Given the description of an element on the screen output the (x, y) to click on. 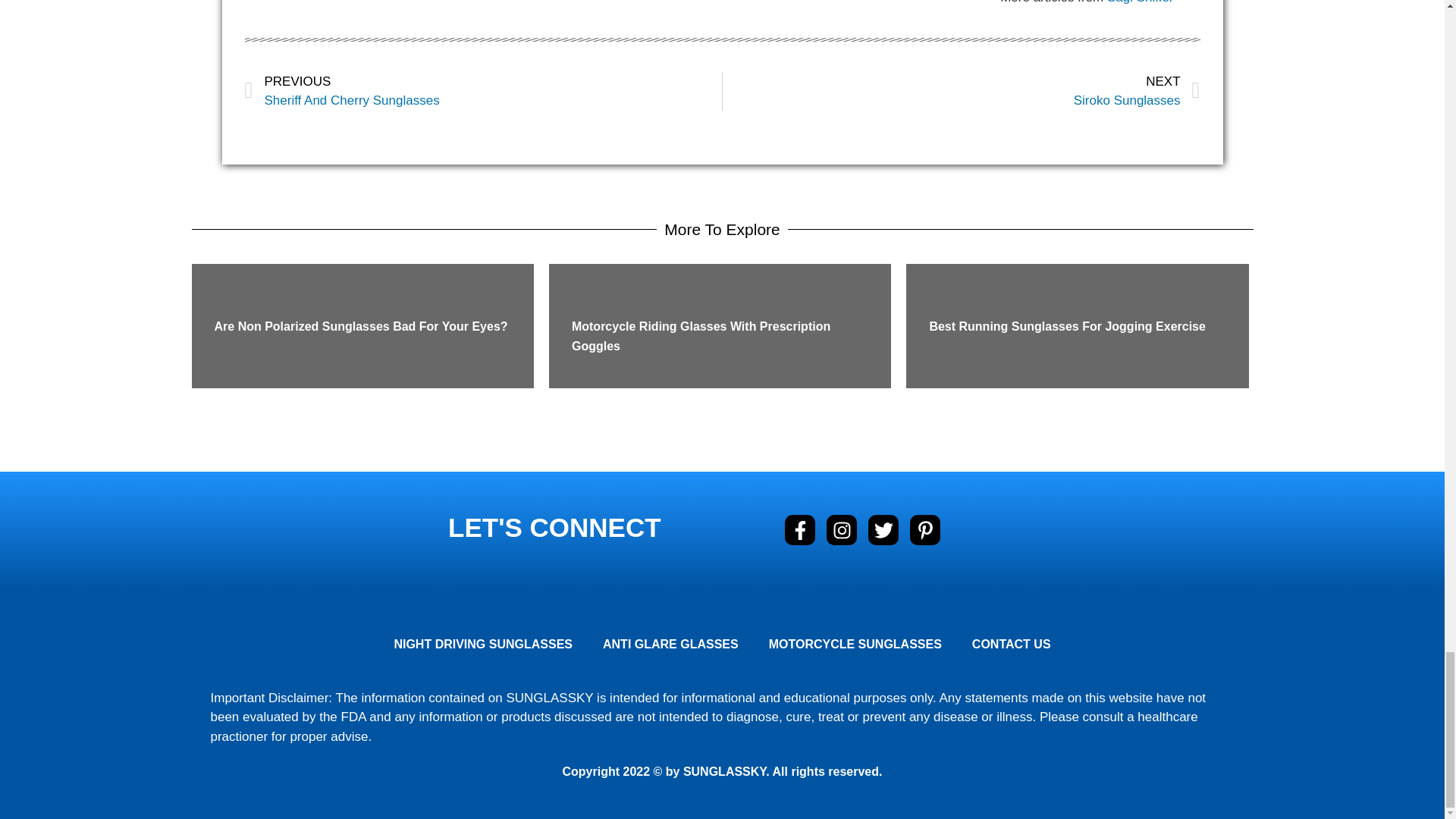
Sagi Shiffer (483, 91)
Best Running Sunglasses For Jogging Exercise (1139, 2)
Motorcycle Riding Glasses With Prescription Goggles (1066, 326)
Are Non Polarized Sunglasses Bad For Your Eyes? (700, 336)
